Given the description of an element on the screen output the (x, y) to click on. 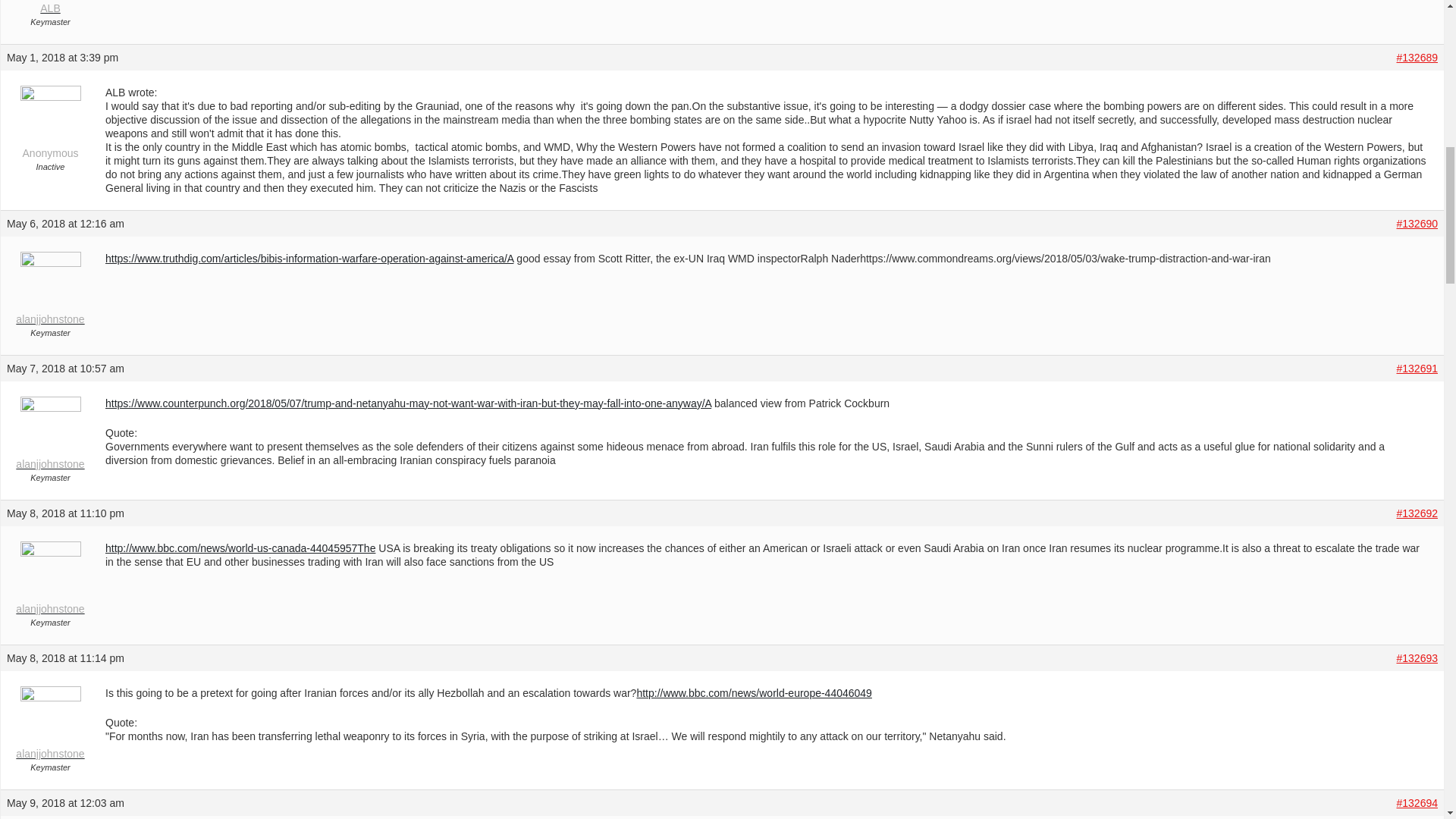
View alanjjohnstone's profile (50, 725)
View alanjjohnstone's profile (50, 436)
View ALB's profile (50, 7)
View alanjjohnstone's profile (50, 581)
View alanjjohnstone's profile (50, 291)
